Given the description of an element on the screen output the (x, y) to click on. 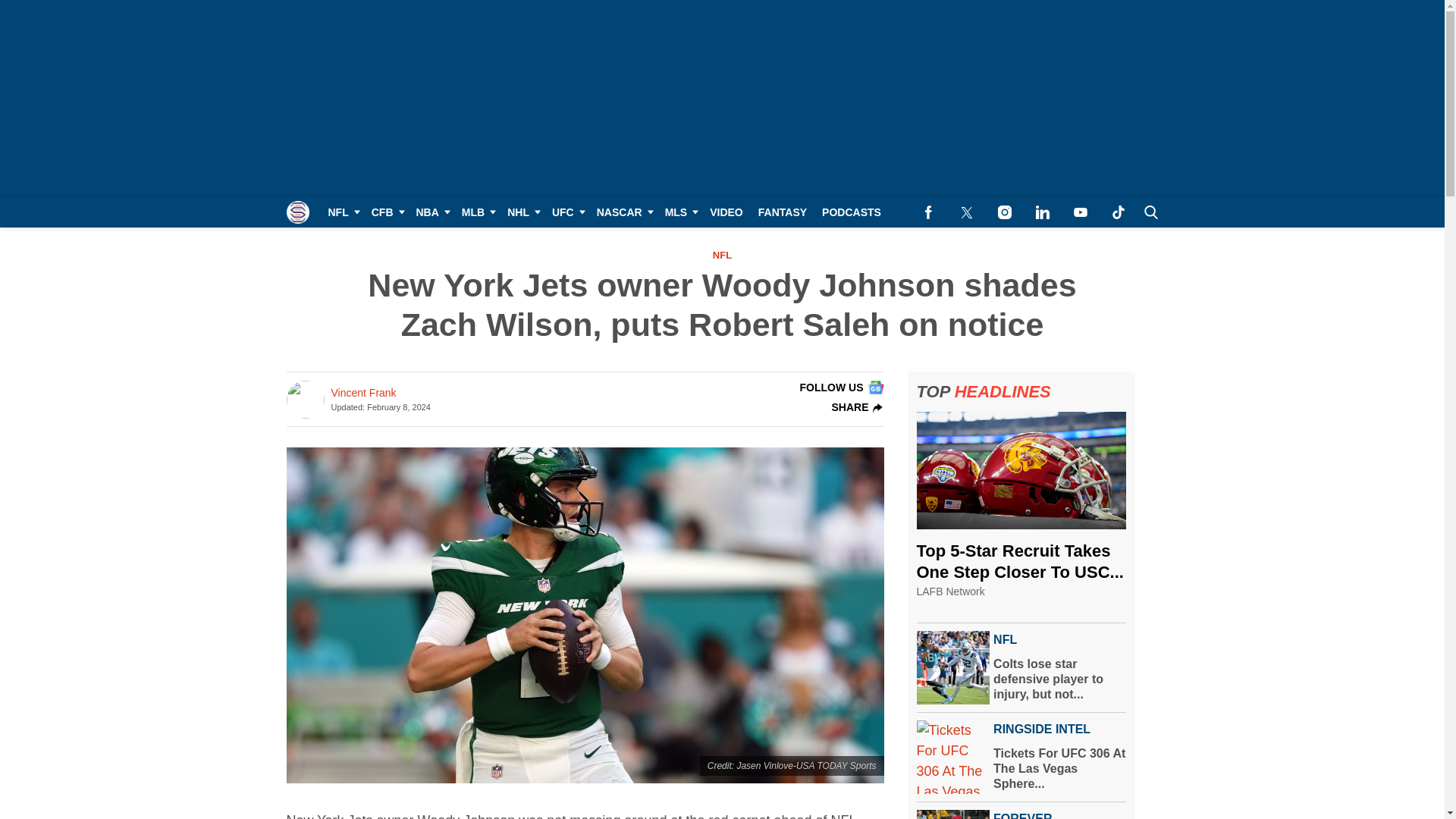
Subscribe to our TikTok channel (1118, 212)
Posts by Vincent Frank (363, 392)
CFB (386, 212)
UFC (566, 212)
Follow us on Twitter (966, 212)
MLB (476, 212)
Follow us on Instagram (1004, 212)
Connect with us on LinkedIn (1042, 212)
NHL (521, 212)
NFL (341, 212)
